Given the description of an element on the screen output the (x, y) to click on. 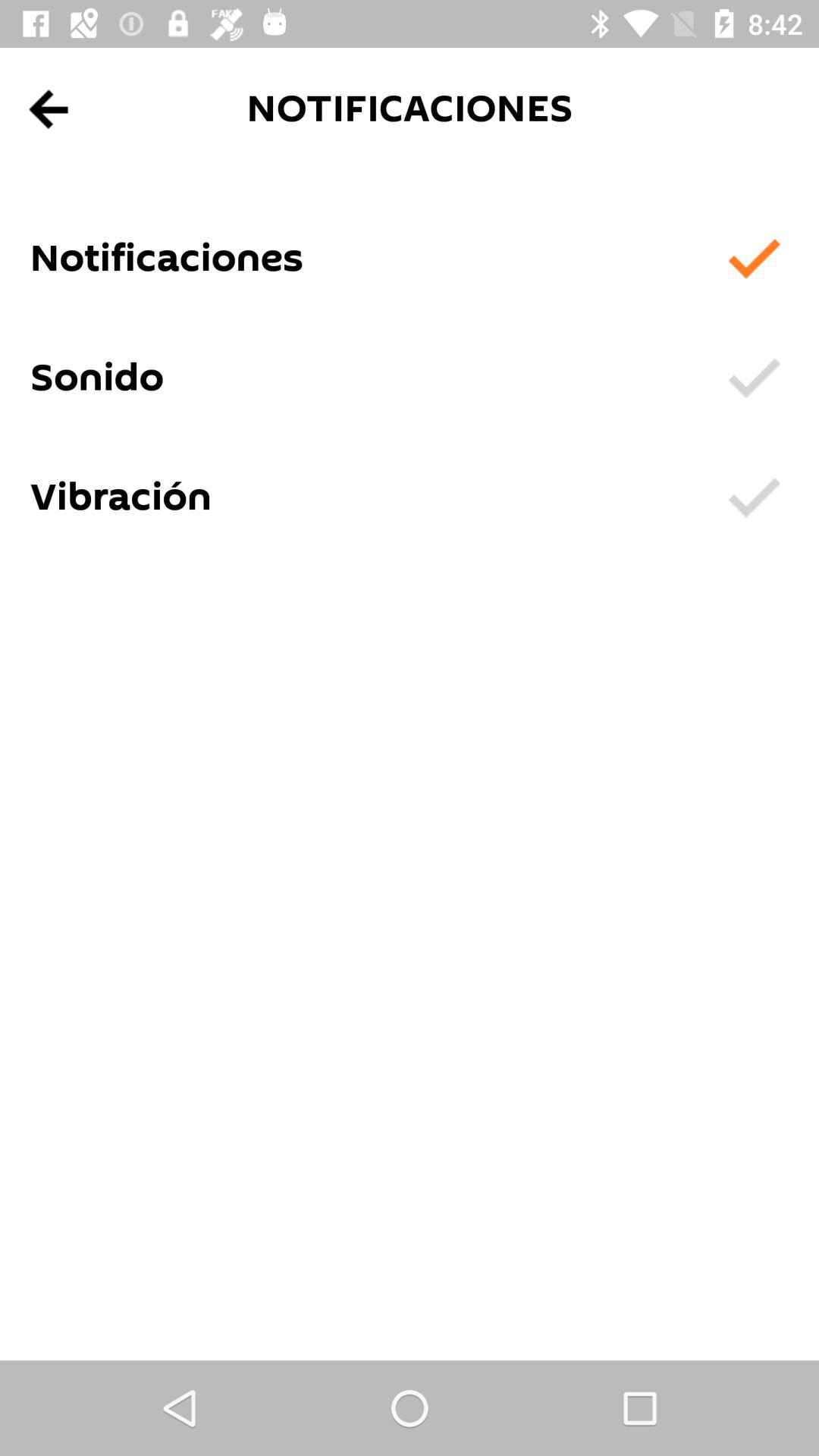
turn on icon at the top left corner (49, 109)
